Given the description of an element on the screen output the (x, y) to click on. 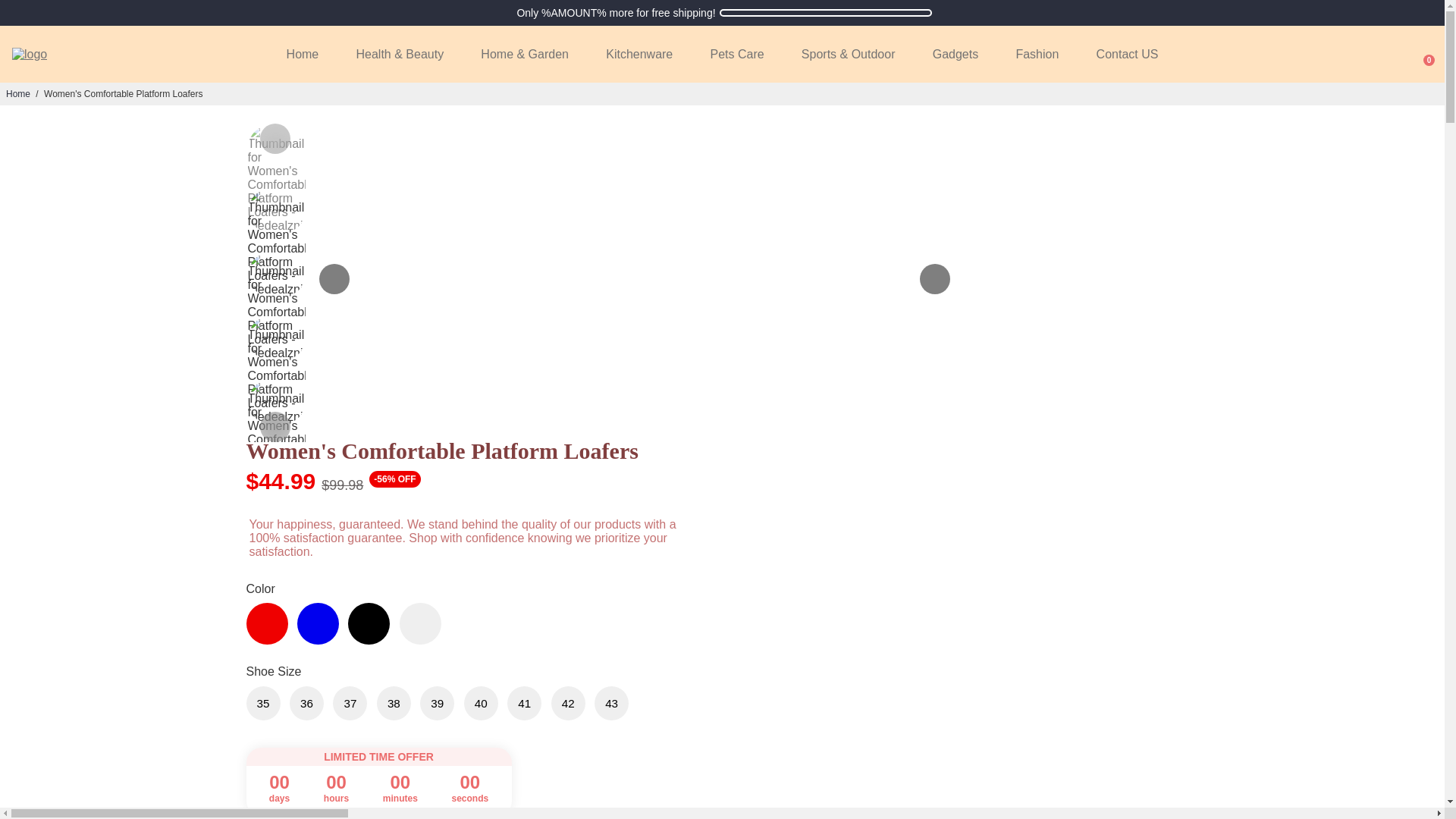
Pets Care (736, 53)
Fashion (1037, 53)
Contact US (1127, 53)
Home (302, 53)
Kitchenware (639, 53)
Gadgets (954, 53)
Home (17, 93)
